Given the description of an element on the screen output the (x, y) to click on. 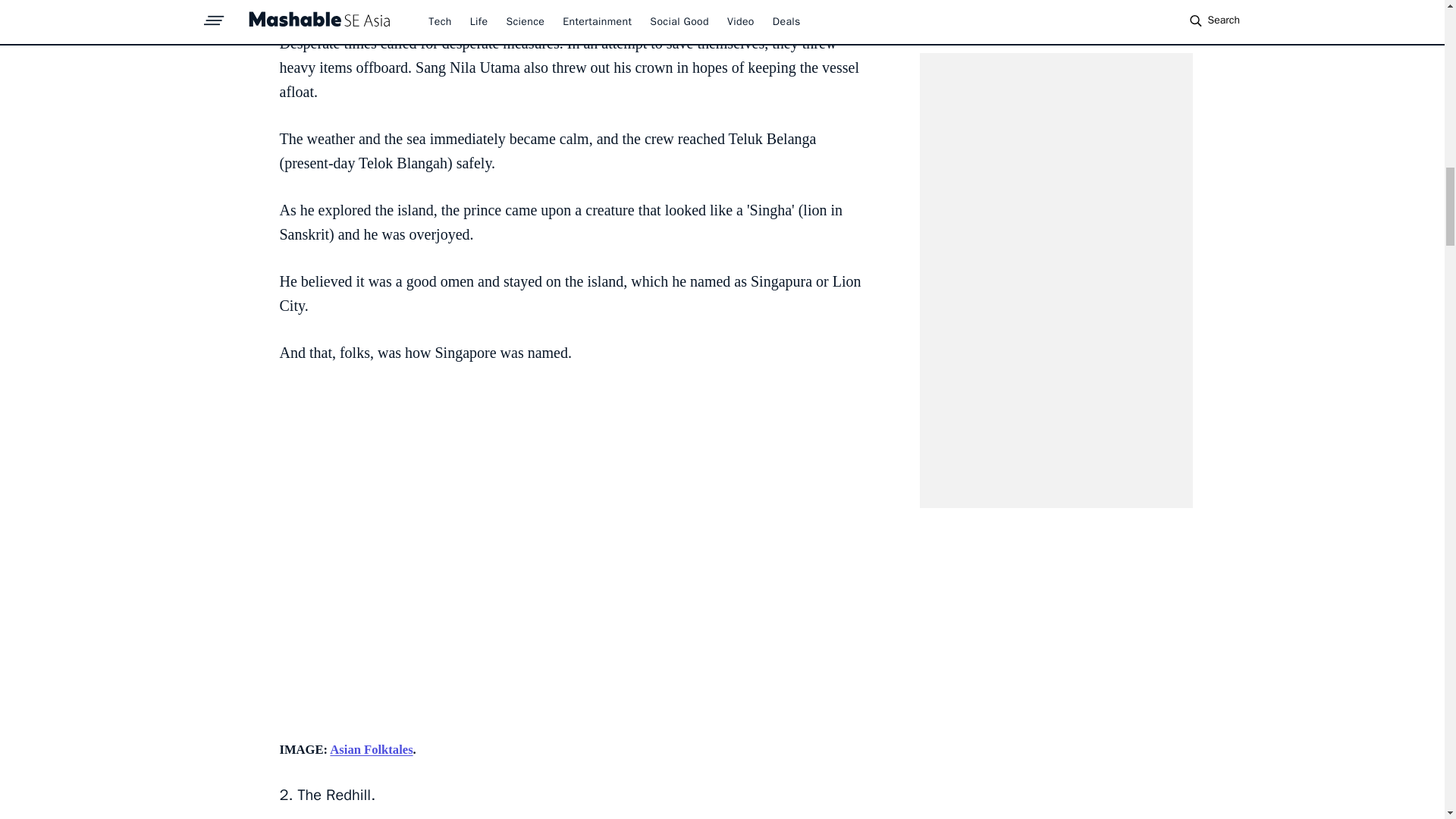
Asian Folktales (371, 749)
